Given the description of an element on the screen output the (x, y) to click on. 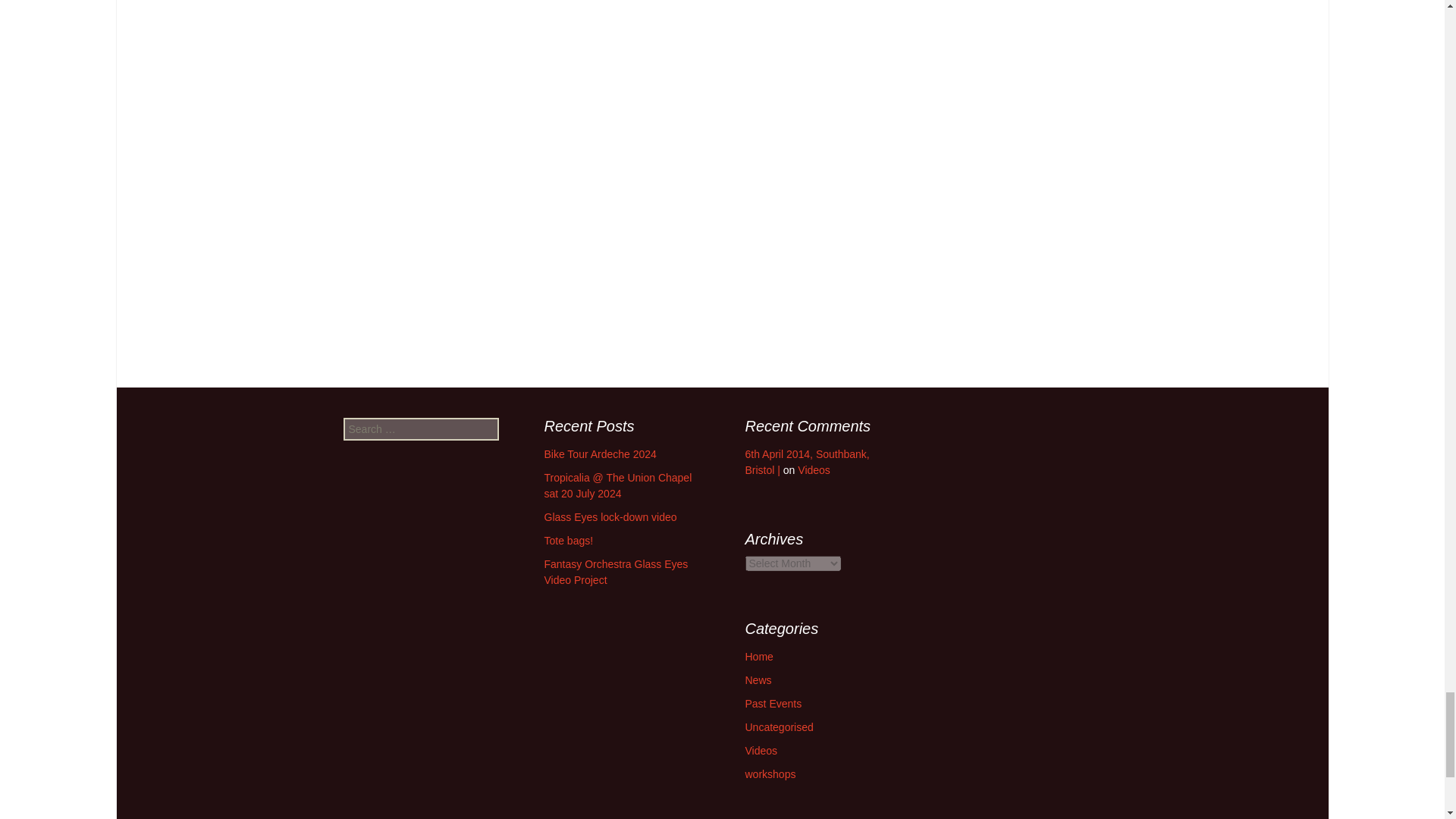
workshops (769, 774)
Tote bags! (569, 540)
Glass Eyes lock-down video (610, 517)
Videos (760, 750)
Past Events (773, 703)
Videos (813, 469)
News (757, 680)
Home (758, 656)
Uncategorised (778, 727)
Bike Tour Ardeche 2024 (600, 453)
Fantasy Orchestra Glass Eyes Video Project (616, 571)
